Given the description of an element on the screen output the (x, y) to click on. 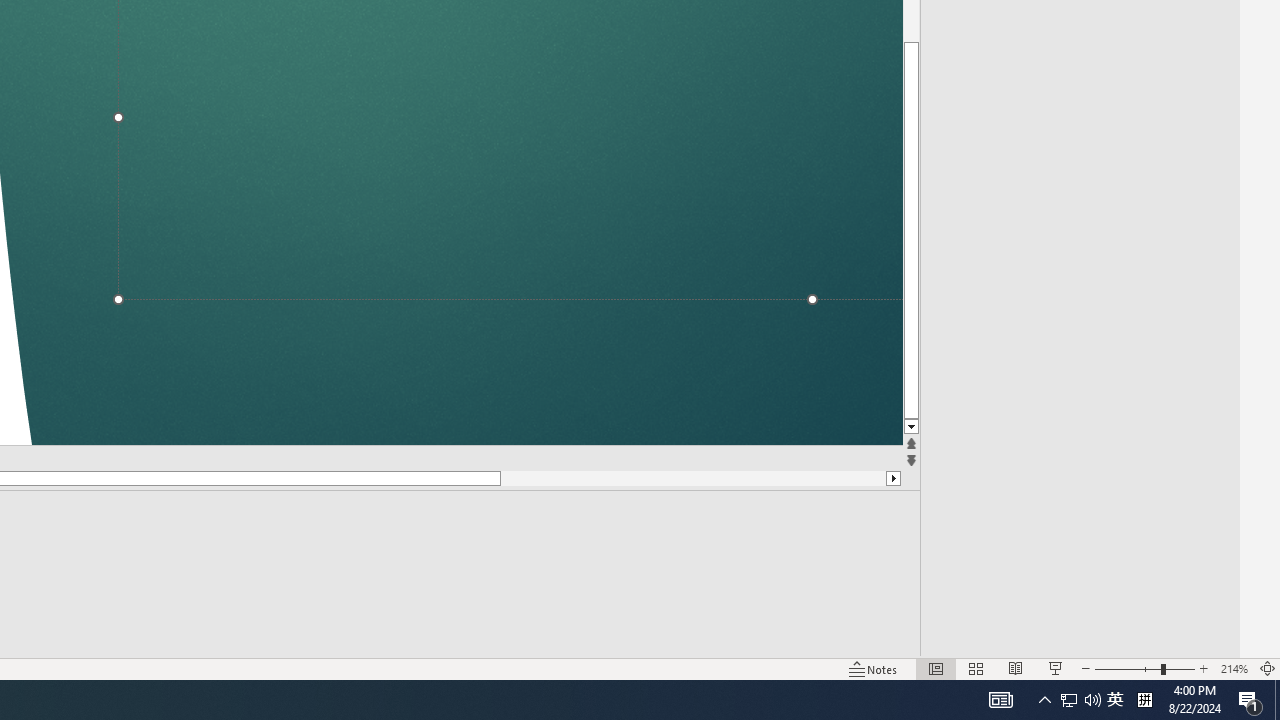
Print Layout (924, 640)
Zoom Out (1067, 640)
Zoom (1116, 640)
Class: Image (965, 687)
Read Mode (864, 640)
Web Layout (984, 640)
Zoom In (1204, 640)
Focus  (786, 640)
